Given the description of an element on the screen output the (x, y) to click on. 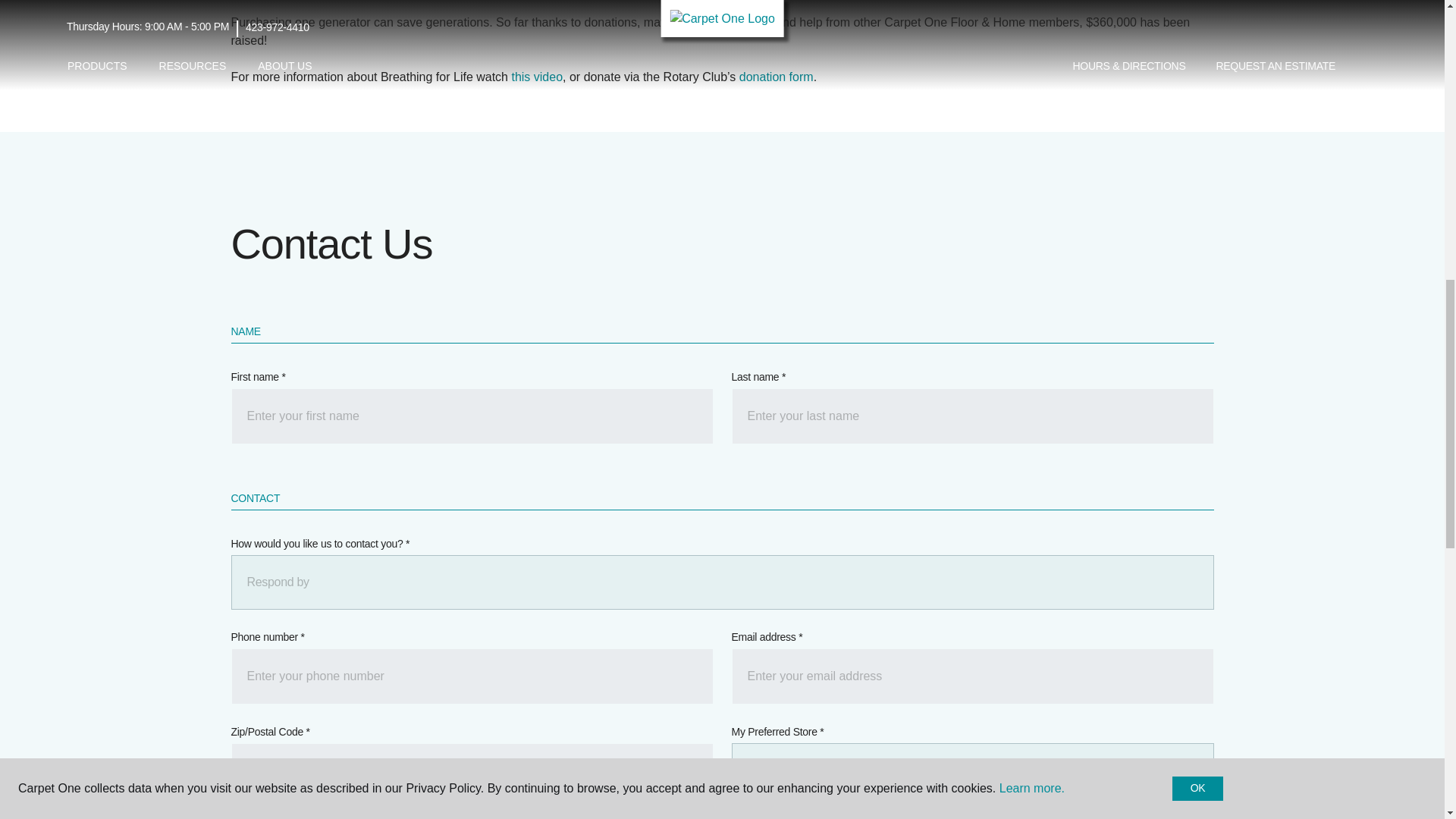
CleanHomePhone (471, 676)
PostalCode (471, 770)
EmailAddress (971, 676)
FirstName (471, 416)
LastName (971, 416)
